Given the description of an element on the screen output the (x, y) to click on. 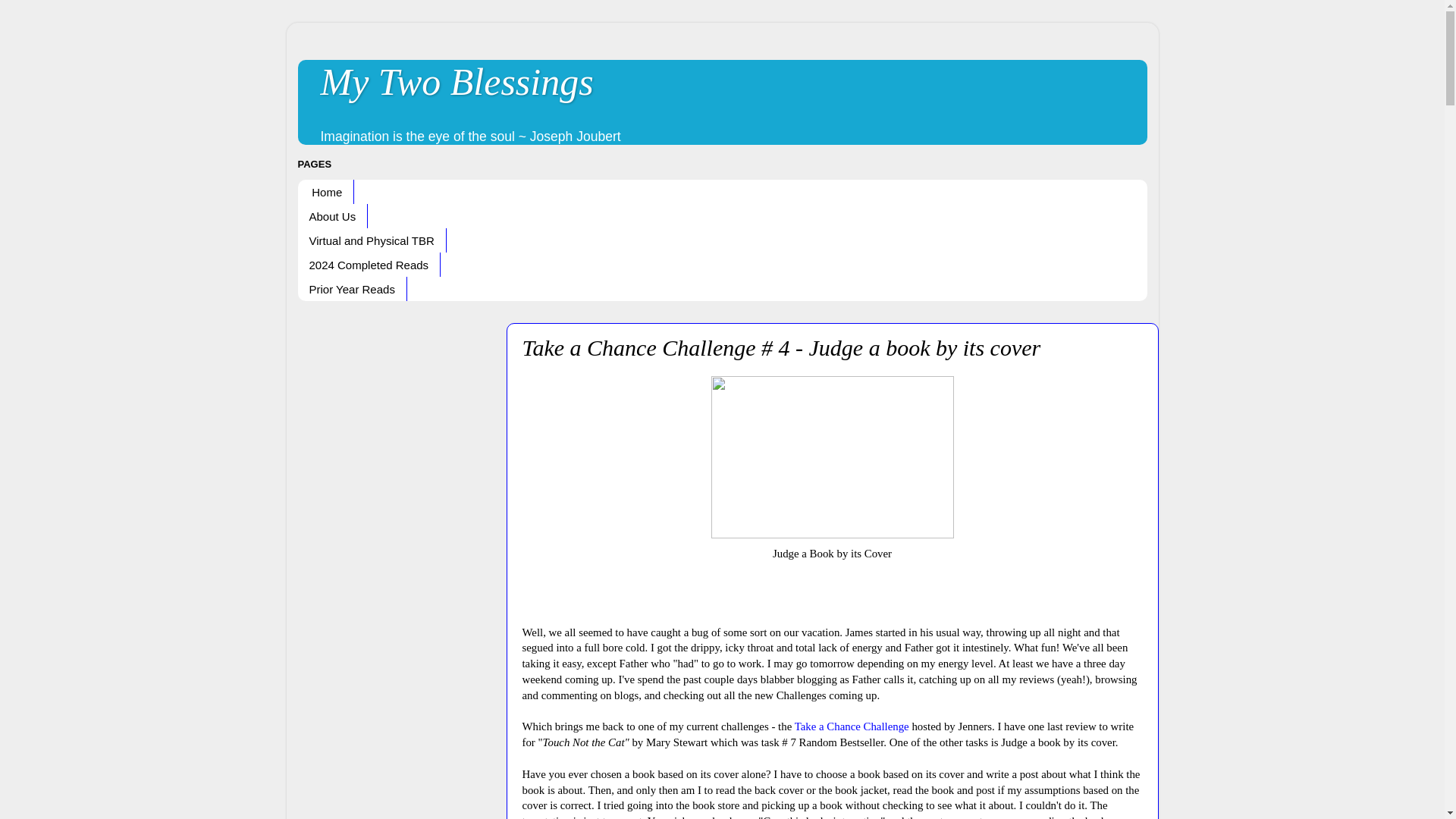
About Us (332, 215)
My Two Blessings (456, 81)
Home (325, 191)
Prior Year Reads (351, 288)
Virtual and Physical TBR (371, 240)
2024 Completed Reads (369, 264)
Take a Chance Challenge (851, 726)
